Given the description of an element on the screen output the (x, y) to click on. 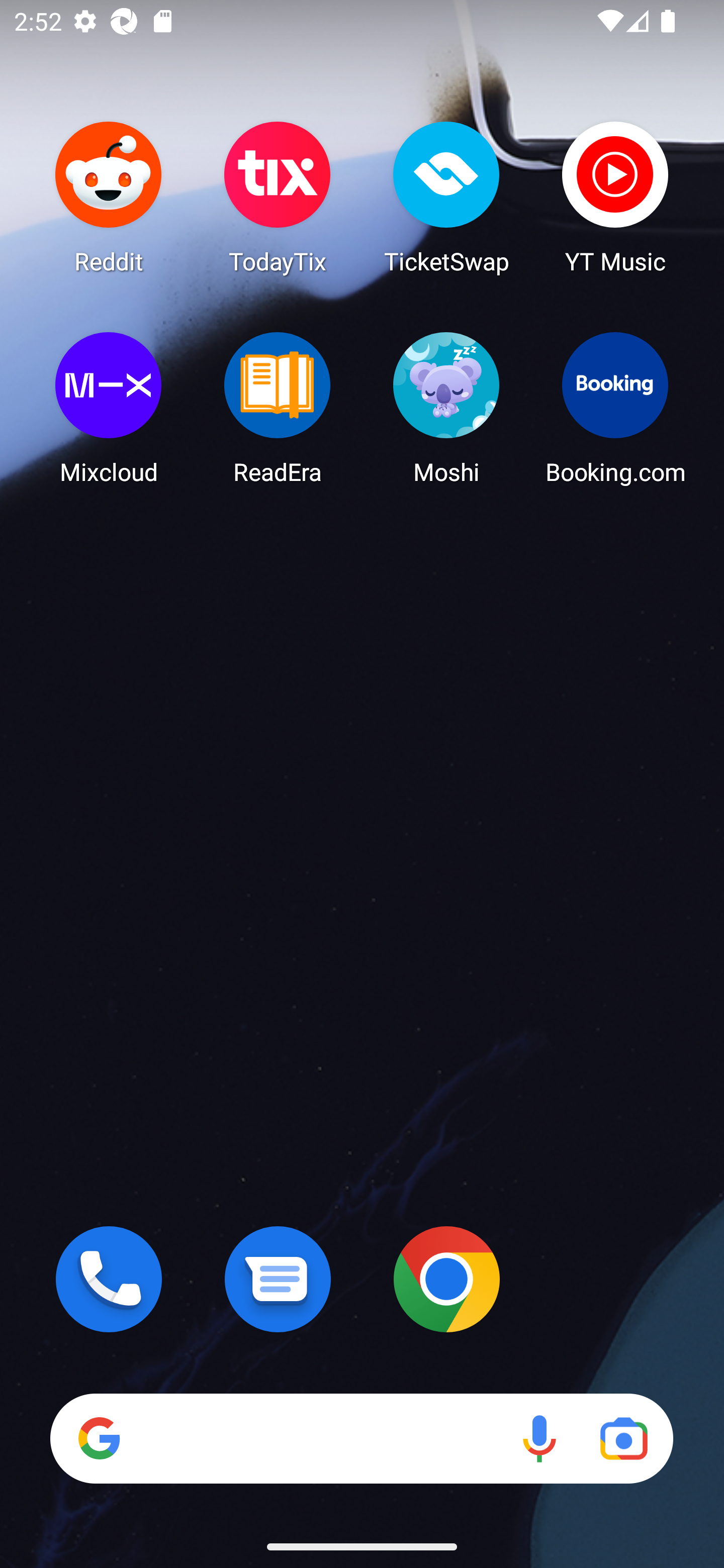
Reddit (108, 196)
TodayTix (277, 196)
TicketSwap (445, 196)
YT Music (615, 196)
Mixcloud (108, 407)
ReadEra (277, 407)
Moshi (445, 407)
Booking.com (615, 407)
Phone (108, 1279)
Messages (277, 1279)
Chrome (446, 1279)
Search Voice search Google Lens (361, 1438)
Voice search (539, 1438)
Google Lens (623, 1438)
